Given the description of an element on the screen output the (x, y) to click on. 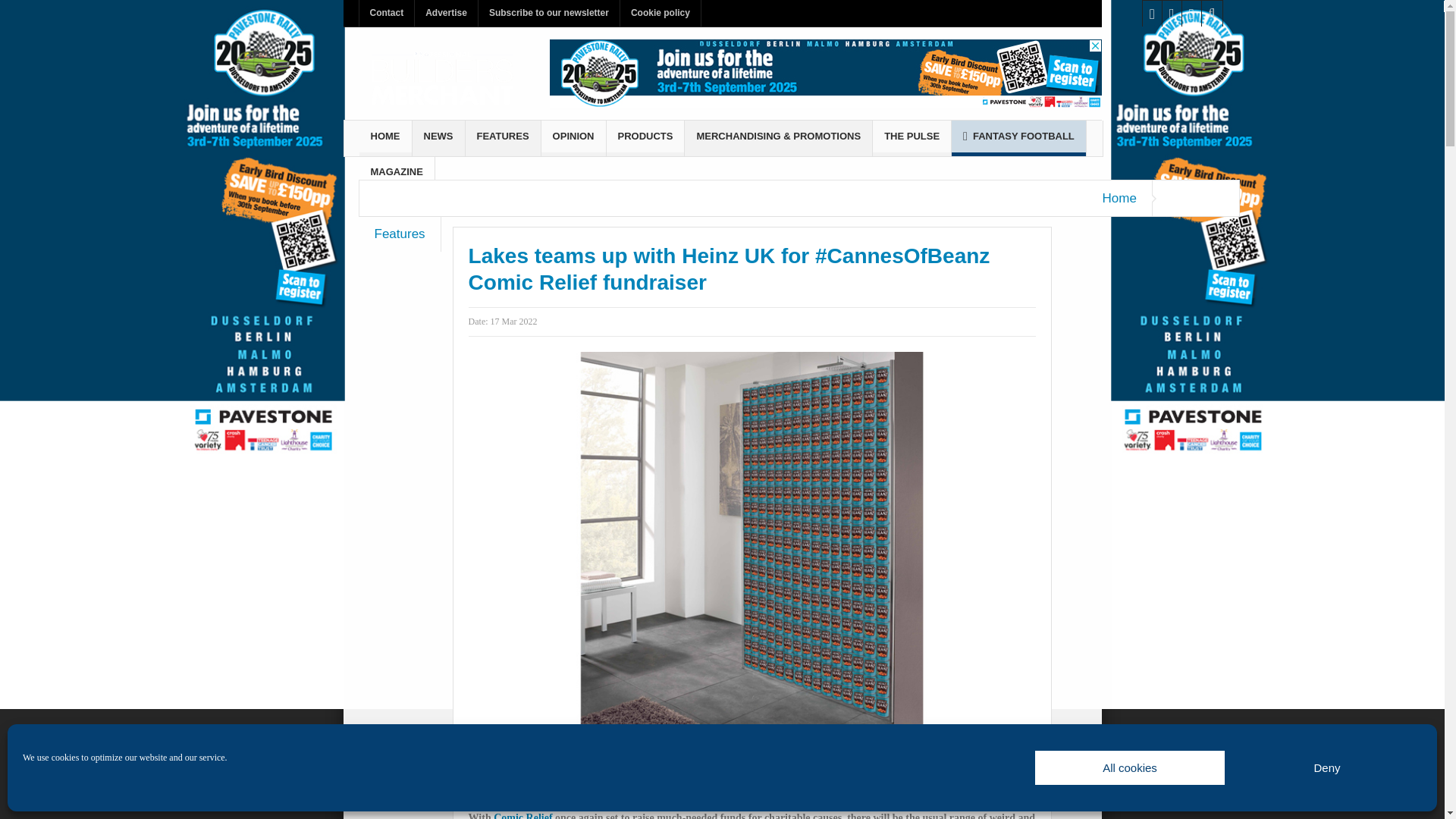
3rd party ad content (751, 774)
THE PULSE (911, 138)
Cookie policy (660, 13)
All cookies (1129, 767)
Deny (1326, 767)
OPINION (573, 138)
NEWS (438, 138)
Features (400, 233)
Advertise (445, 13)
3rd party ad content (824, 74)
